Given the description of an element on the screen output the (x, y) to click on. 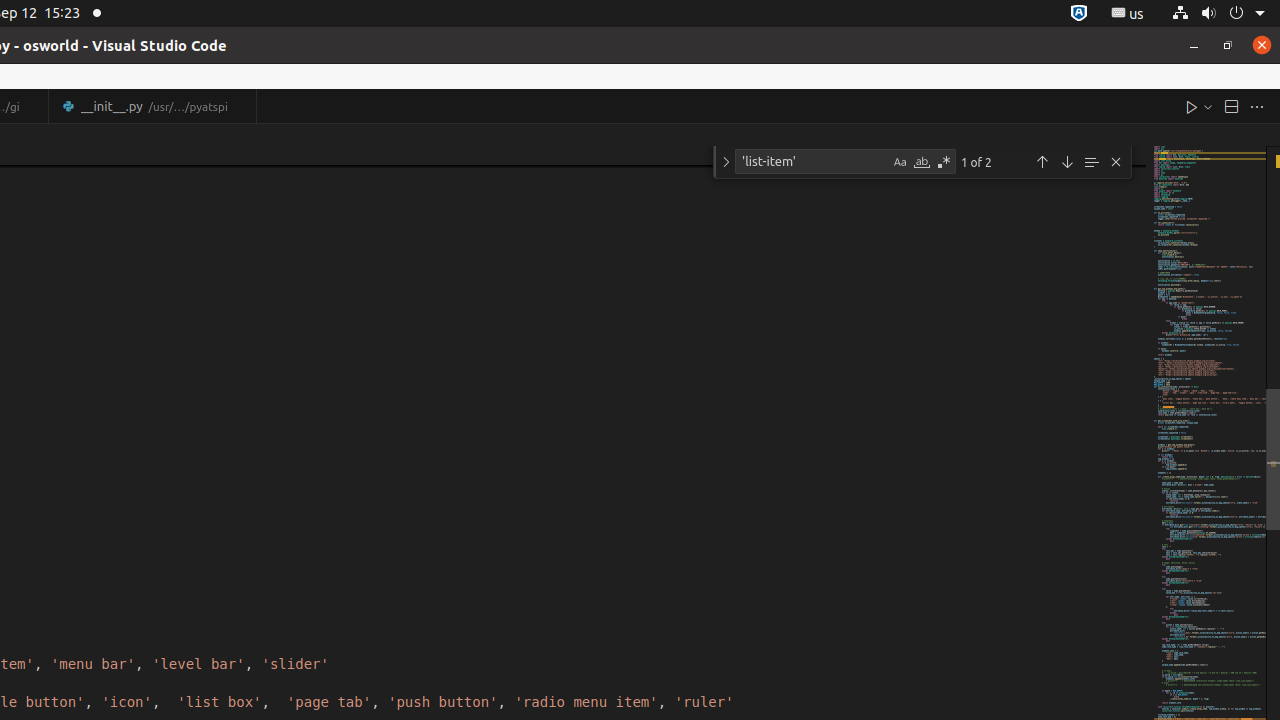
More Actions... Element type: push-button (1257, 106)
__init__.py Element type: page-tab (152, 106)
